Given the description of an element on the screen output the (x, y) to click on. 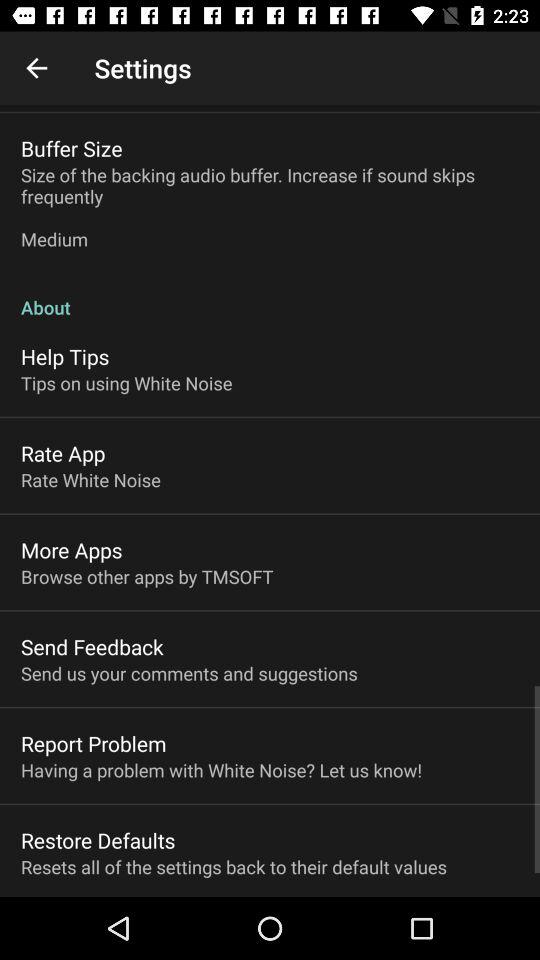
choose more apps (71, 549)
